Given the description of an element on the screen output the (x, y) to click on. 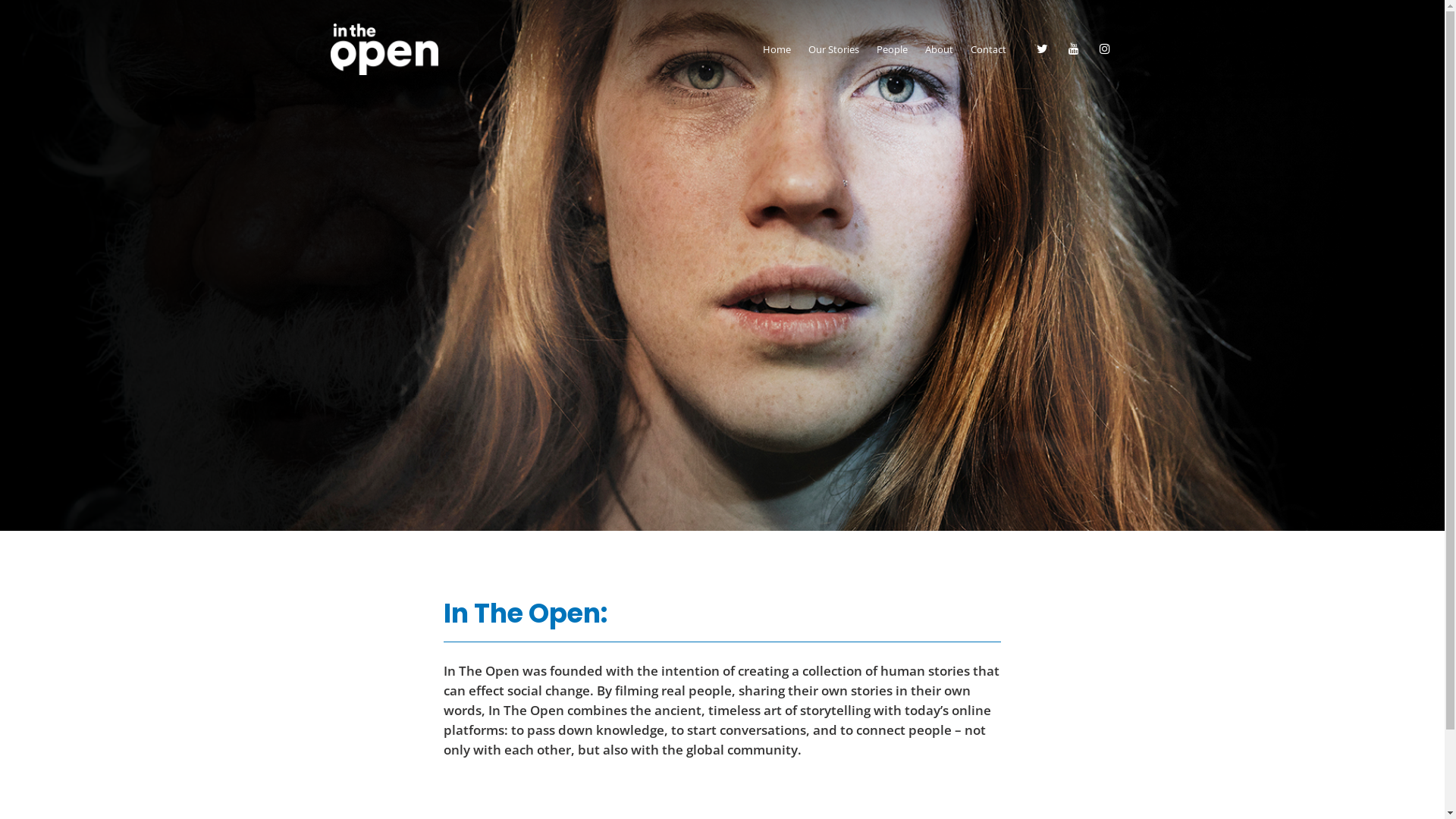
Contact Element type: text (988, 49)
People Element type: text (891, 49)
Our Stories Element type: text (833, 49)
About Element type: text (939, 49)
Home Element type: text (776, 49)
